Given the description of an element on the screen output the (x, y) to click on. 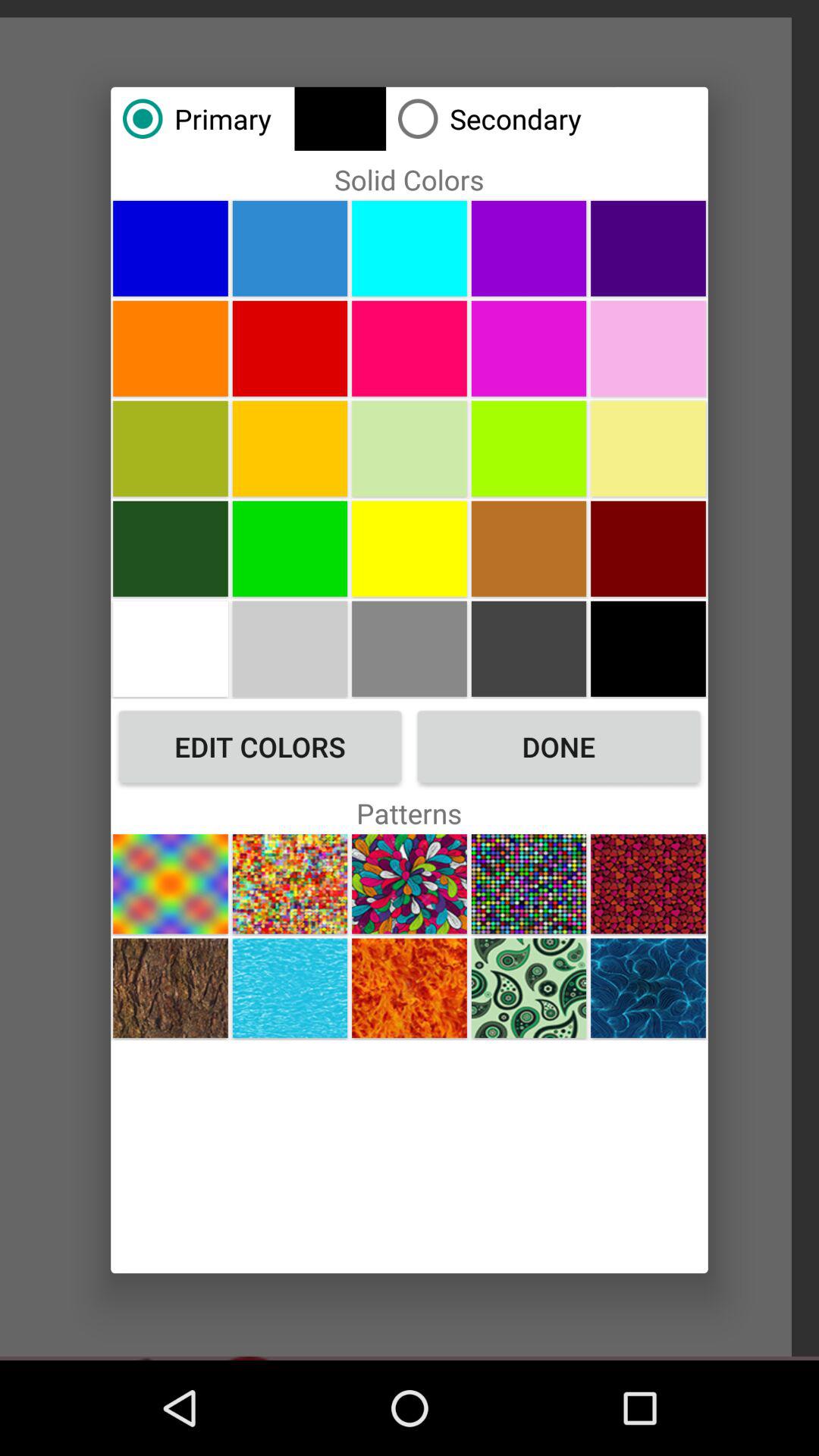
pattern selection rocks (170, 987)
